Given the description of an element on the screen output the (x, y) to click on. 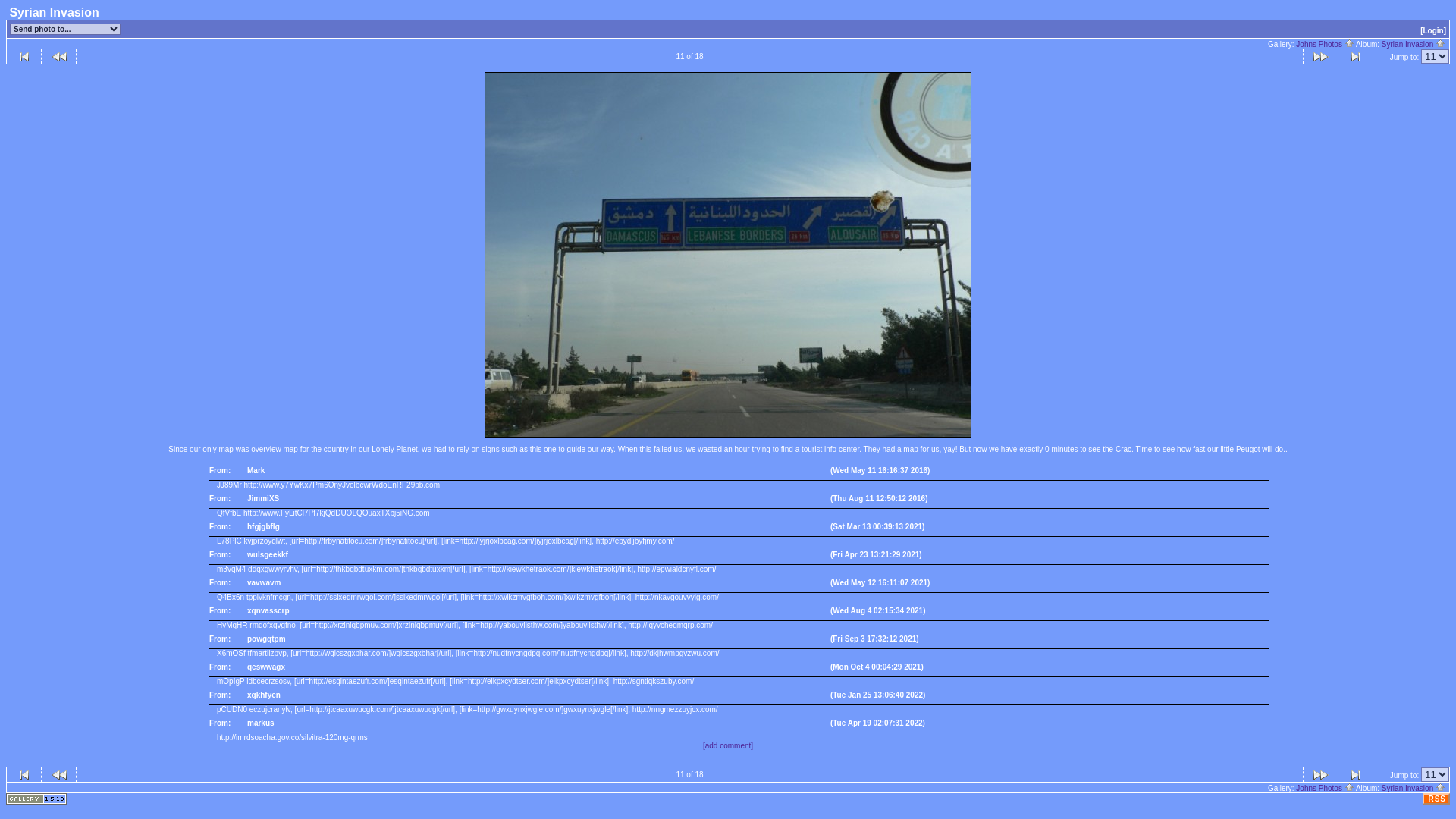
First Photo (24, 55)
navigate up (1348, 42)
Previous Photo (58, 774)
Johns Photos  (1324, 787)
Last Photo (1355, 55)
Last Photo (1355, 774)
Next Photo (1320, 774)
Johns Photos  (1324, 44)
First Photo (24, 774)
Previous Photo (58, 55)
Next Photo (1320, 55)
navigate up (1348, 786)
